Given the description of an element on the screen output the (x, y) to click on. 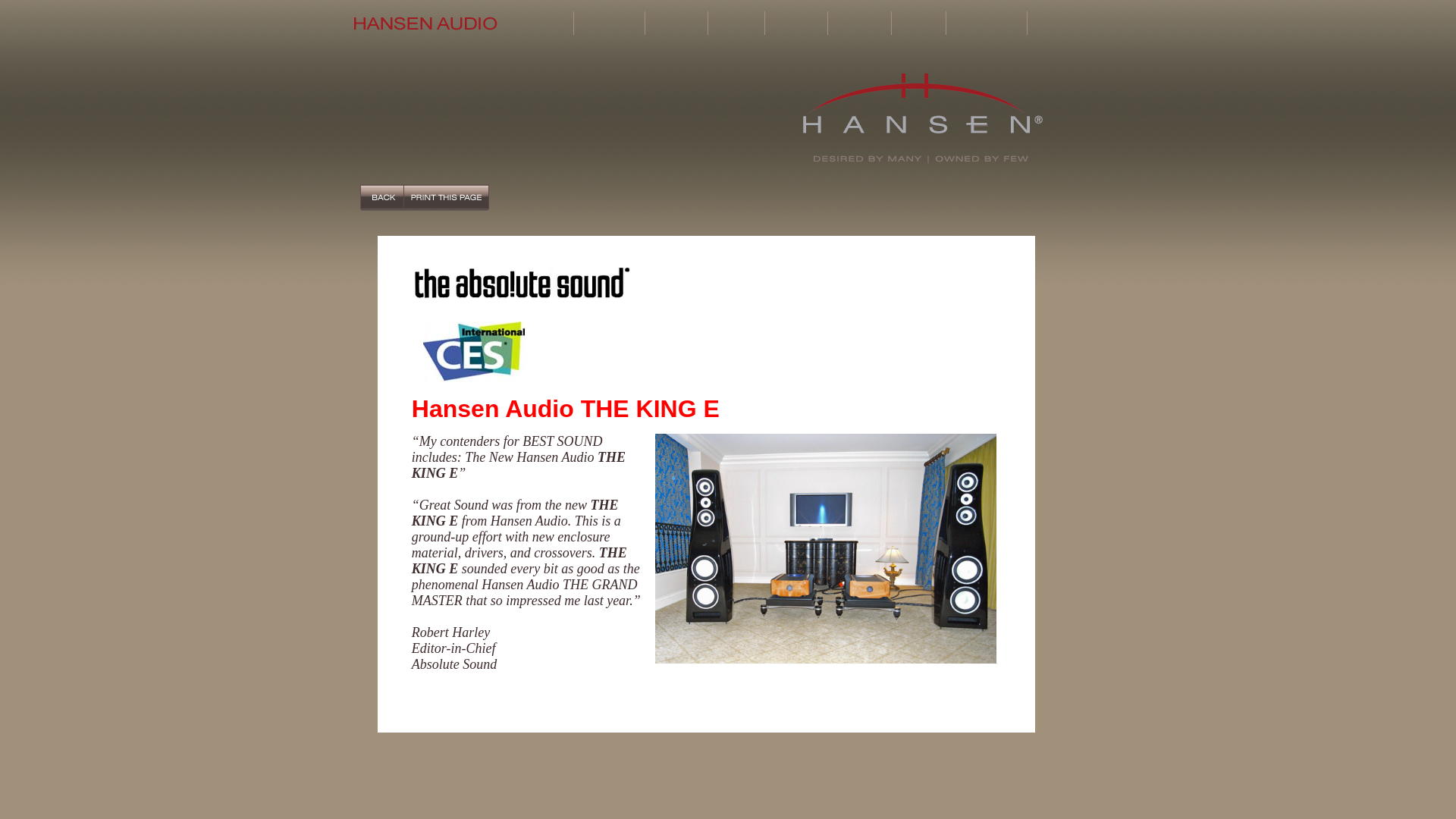
Print this review (446, 197)
Contact Hansen Audio (1062, 23)
Where to Buy Hansen Audio Products (986, 23)
HANSEN AUDIO (922, 117)
Home Page (552, 23)
go to the previous page (381, 197)
Awards (917, 23)
